Given the description of an element on the screen output the (x, y) to click on. 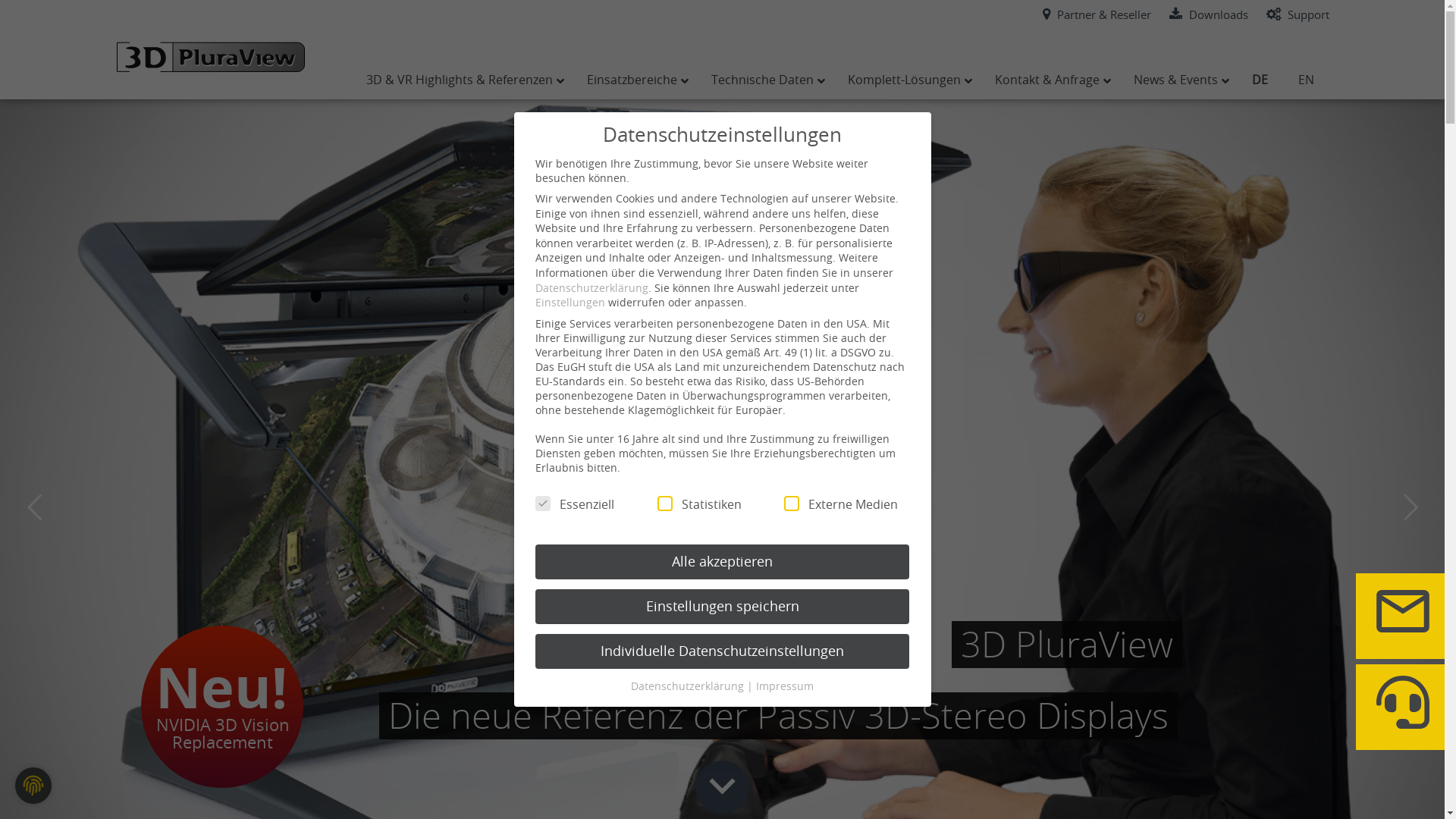
Einstellungen speichern Element type: text (722, 606)
Die neue Referenz der Passiv 3D-Stereo Displays Element type: text (778, 715)
Einsatzbereiche Element type: text (633, 79)
Alle akzeptieren Element type: text (722, 561)
Individuelle Datenschutzeinstellungen Element type: text (722, 650)
DE Element type: text (1259, 79)
Partner & Reseller Element type: text (1095, 13)
News & Events Element type: text (1176, 79)
Downloads Element type: text (1208, 13)
| Impressum Element type: text (779, 685)
Einstellungen Element type: text (570, 301)
Technische Daten Element type: text (764, 79)
Kontakt & Anfrage Element type: text (1048, 79)
Support Element type: text (1297, 13)
EN Element type: text (1306, 79)
3D PluraView Element type: text (1066, 644)
3D & VR Highlights & Referenzen Element type: text (460, 79)
